Given the description of an element on the screen output the (x, y) to click on. 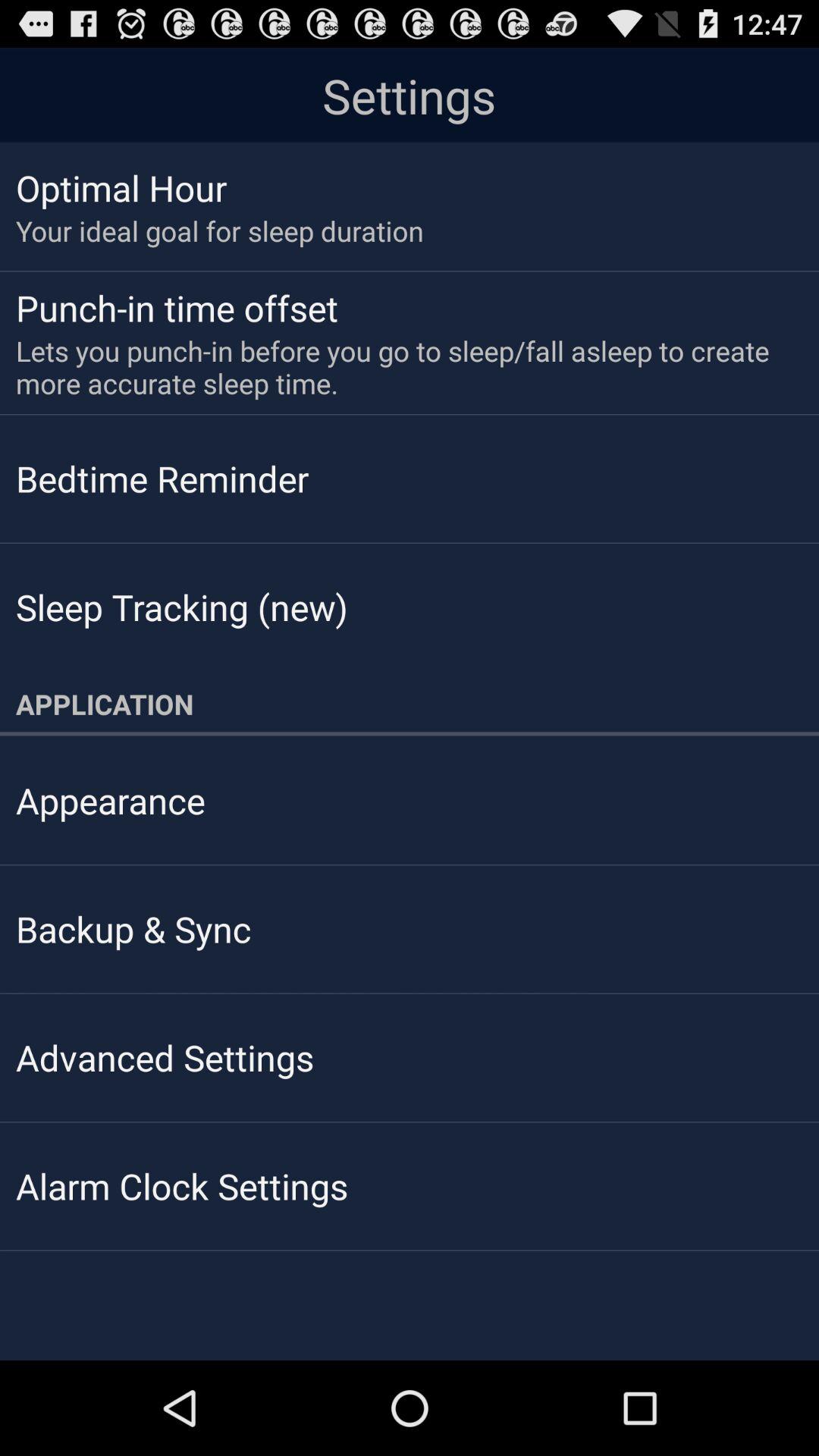
jump until the optimal hour (120, 187)
